Given the description of an element on the screen output the (x, y) to click on. 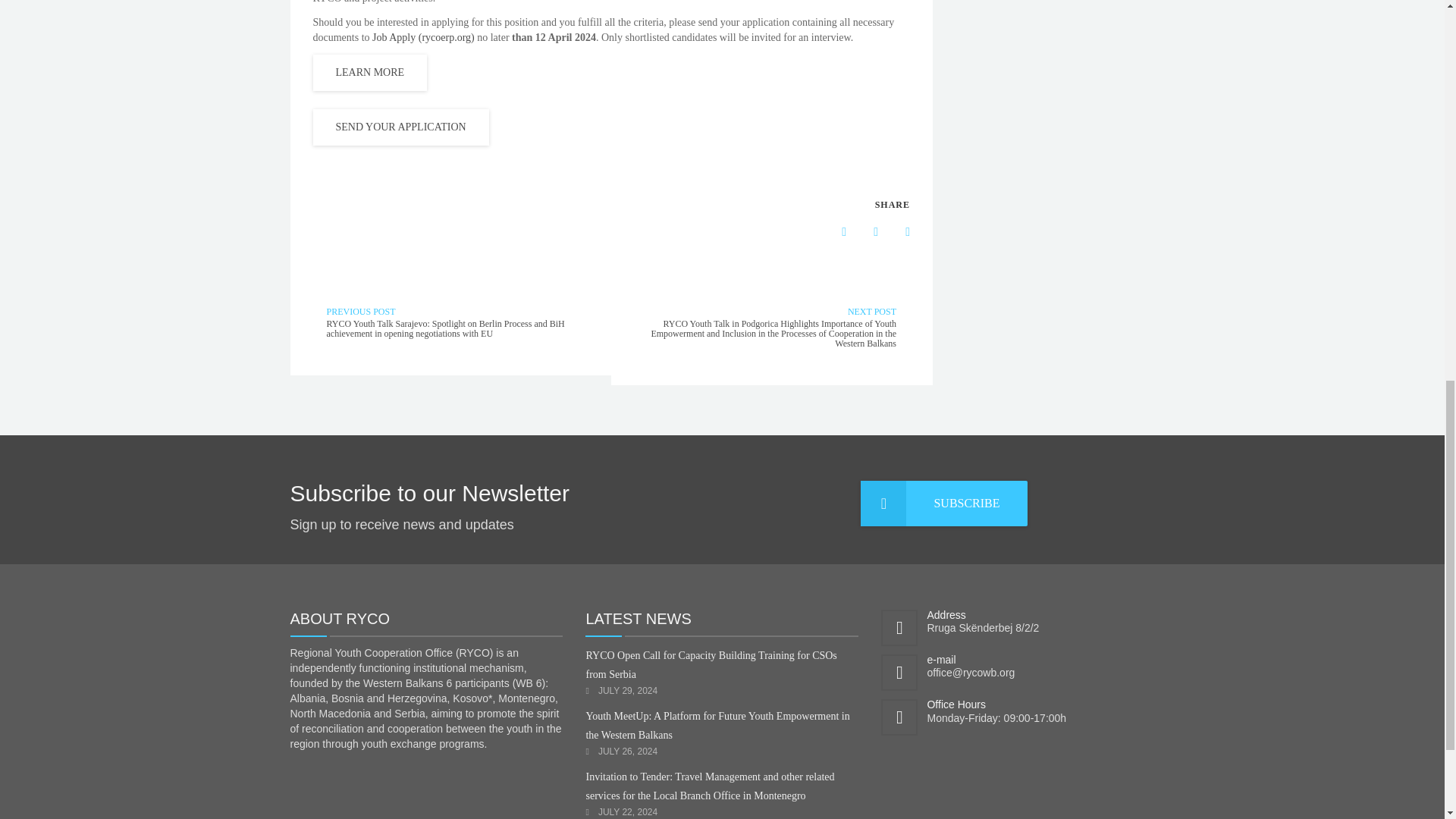
Tweet (896, 231)
Share on Facebook (831, 231)
Share on LinkedIn (863, 231)
